Given the description of an element on the screen output the (x, y) to click on. 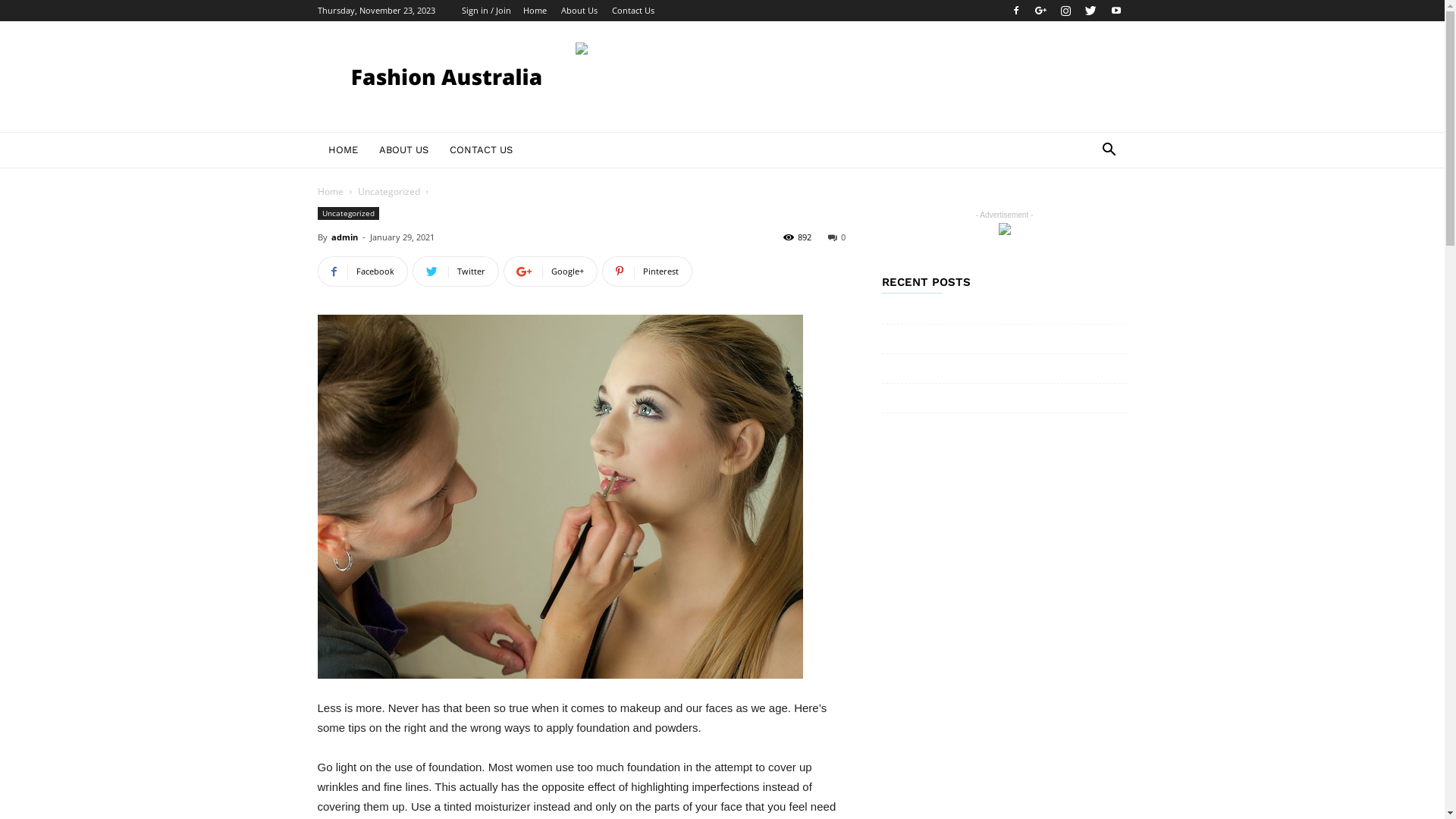
Google+ Element type: hover (1040, 10)
Home Element type: text (534, 9)
admin Element type: text (343, 236)
CONTACT US Element type: text (480, 149)
Uncategorized Element type: text (388, 191)
Home Element type: text (329, 191)
Pinterest Element type: text (647, 271)
Youtube Element type: hover (1115, 10)
0 Element type: text (836, 236)
Sign in / Join Element type: text (485, 9)
Twitter Element type: hover (1090, 10)
Facebook Element type: hover (1015, 10)
About Us Element type: text (579, 9)
Contact Us Element type: text (632, 9)
HOME Element type: text (341, 149)
Google+ Element type: text (550, 271)
Facebook Element type: text (361, 271)
ABOUT US Element type: text (403, 149)
makeup-artist-487063_640 Element type: hover (559, 496)
Twitter Element type: text (455, 271)
Instagram Element type: hover (1065, 10)
Uncategorized Element type: text (347, 213)
Search Element type: text (1085, 210)
